Given the description of an element on the screen output the (x, y) to click on. 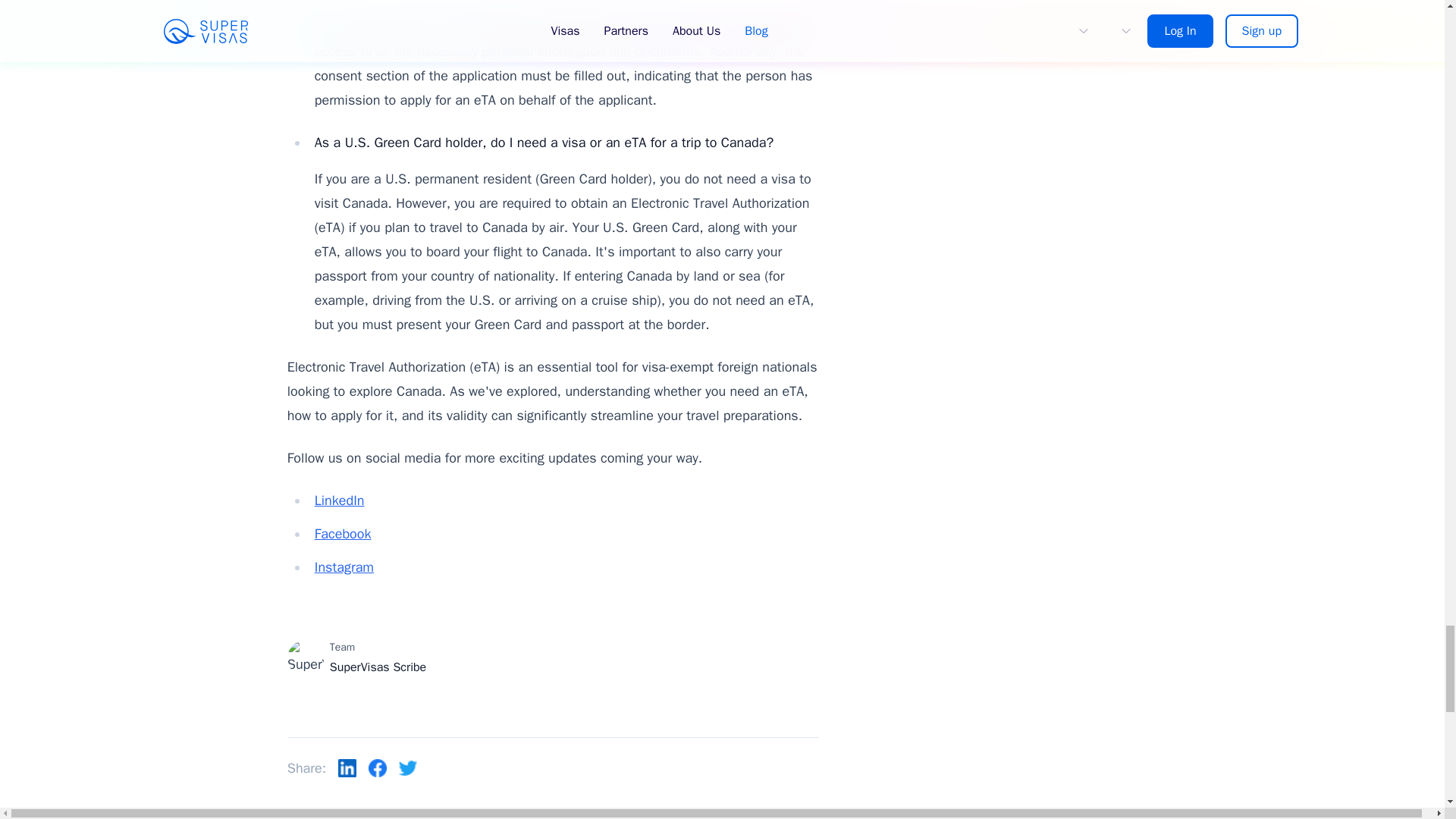
Share article to Twitter (407, 767)
LinkedIn (339, 500)
Share article to Facebook (377, 768)
Share article to LinkedIn (346, 768)
Facebook (342, 533)
Instagram (344, 566)
